Given the description of an element on the screen output the (x, y) to click on. 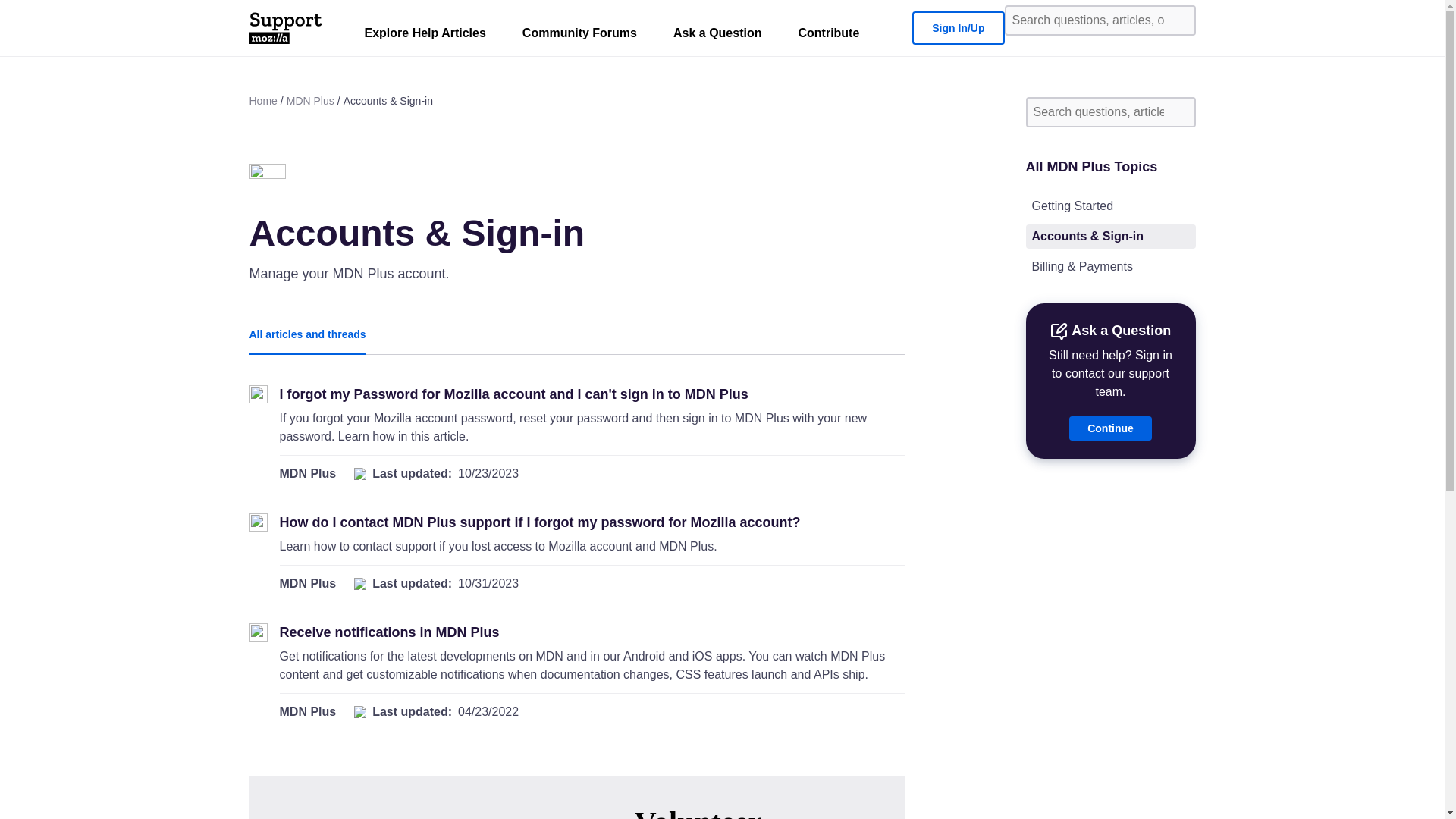
Search (1178, 20)
Ask a Question (716, 37)
Explore Help Articles (424, 37)
Search (1178, 111)
Community Forums (579, 37)
